Given the description of an element on the screen output the (x, y) to click on. 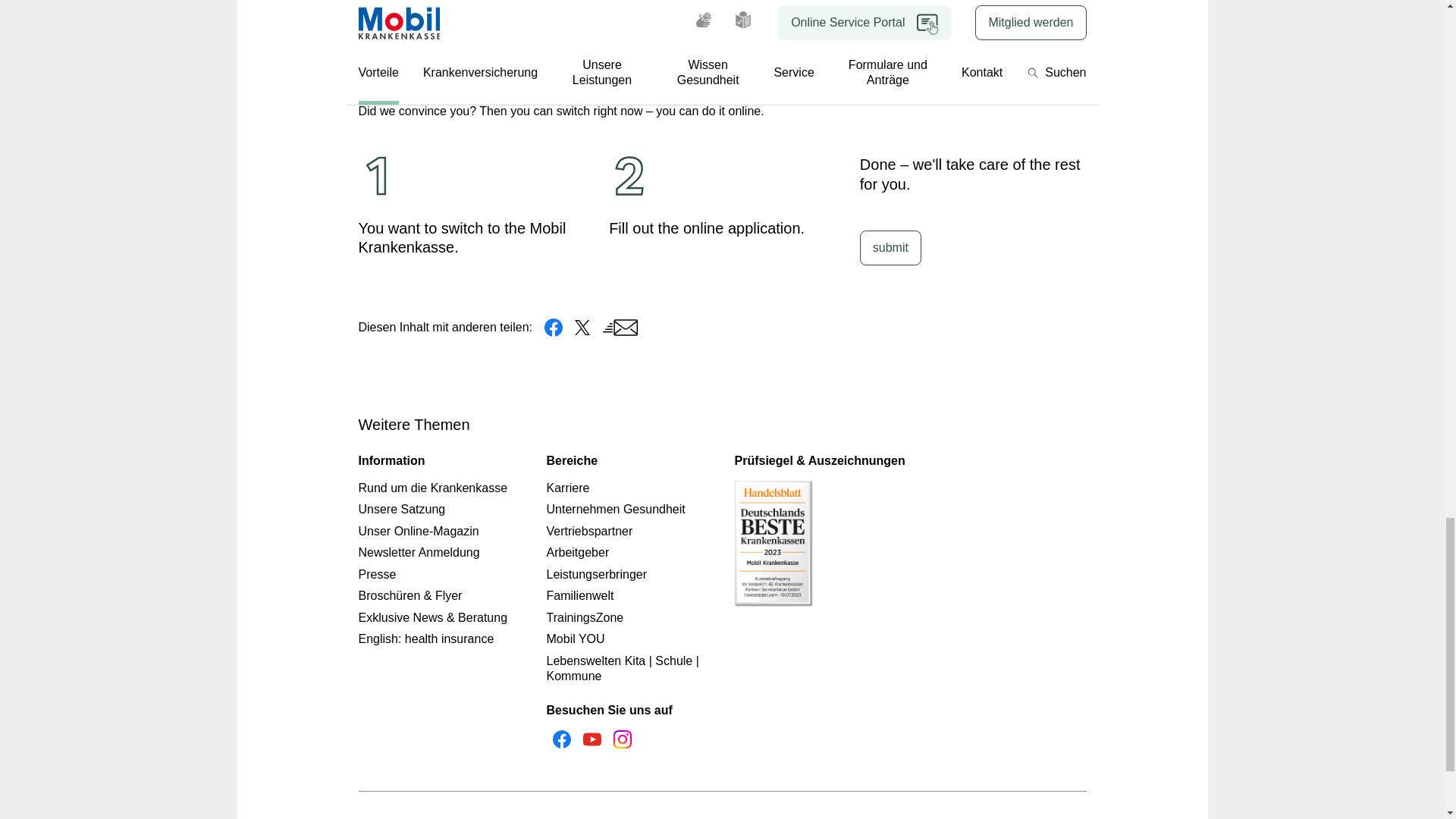
submit (890, 247)
Per Email Versenden (620, 327)
TrainingsZone: Informationsportal rund um Sport und Fitness (584, 617)
Pressemeldungen der Mobil Krankenkasse (377, 574)
Unser Online-Magazin (418, 530)
Per X Teilen (582, 327)
Information about health insurance (425, 638)
Online-Magazin Mobil-e der Mobil Krankenkasse (418, 530)
switch now (909, 14)
Rund um die Krankenkasse (432, 487)
Arbeitgeber: Sozialversicherung und Gesundheit im Betrieb (577, 552)
